Given the description of an element on the screen output the (x, y) to click on. 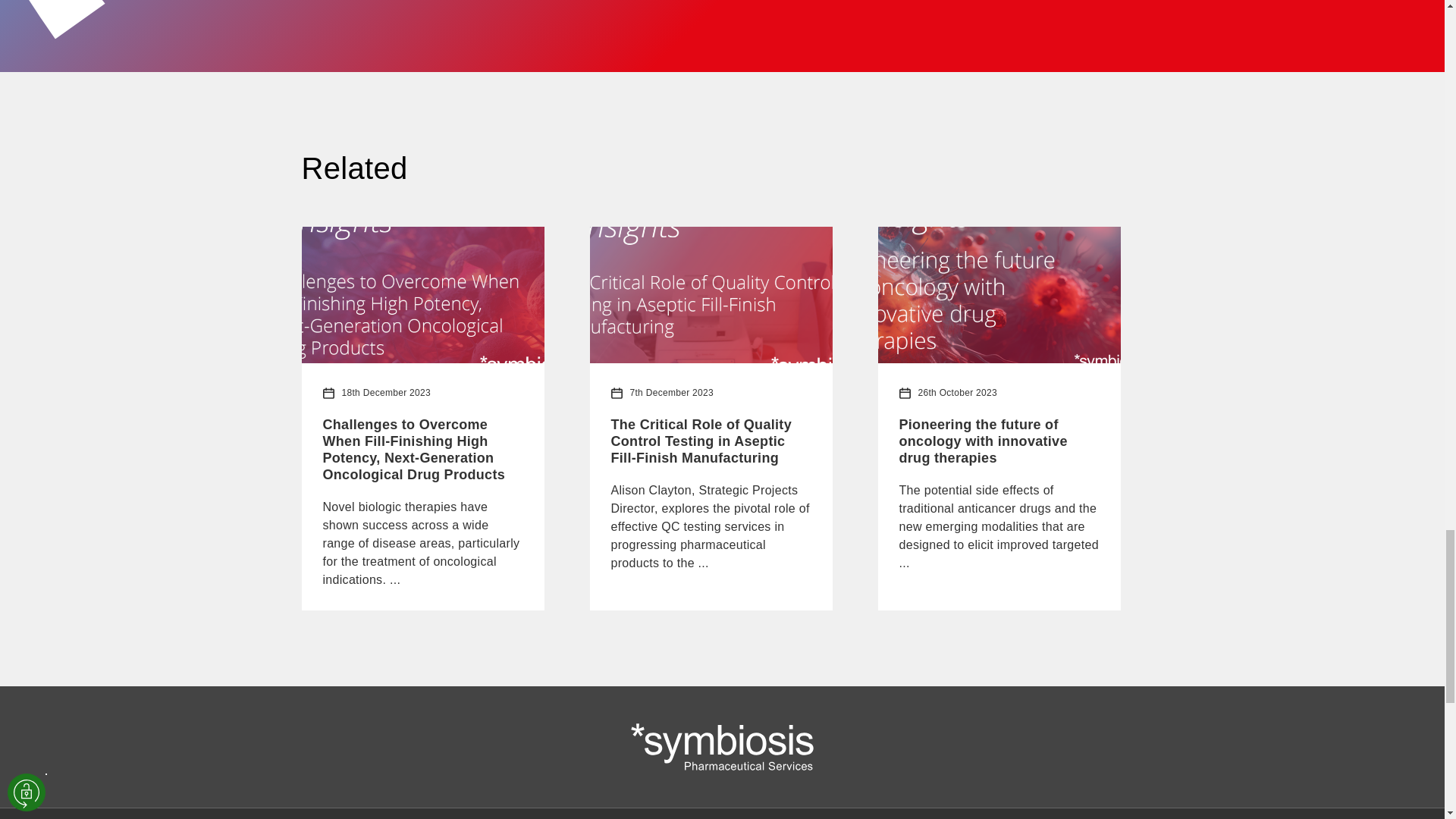
Accept all (30, 752)
